Given the description of an element on the screen output the (x, y) to click on. 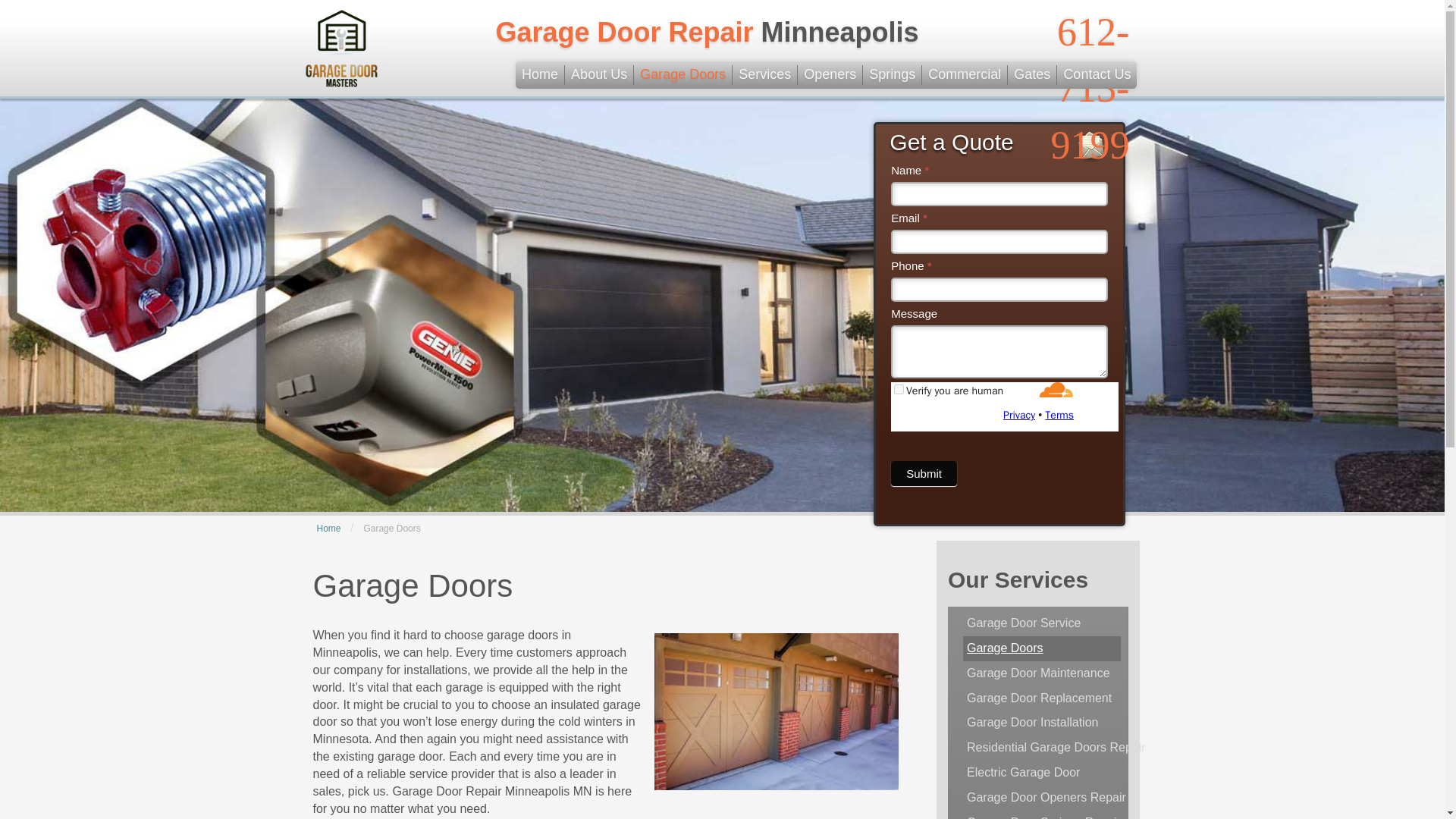
Home (539, 75)
Garage Doors (682, 75)
About Us (598, 75)
Services (764, 75)
